Given the description of an element on the screen output the (x, y) to click on. 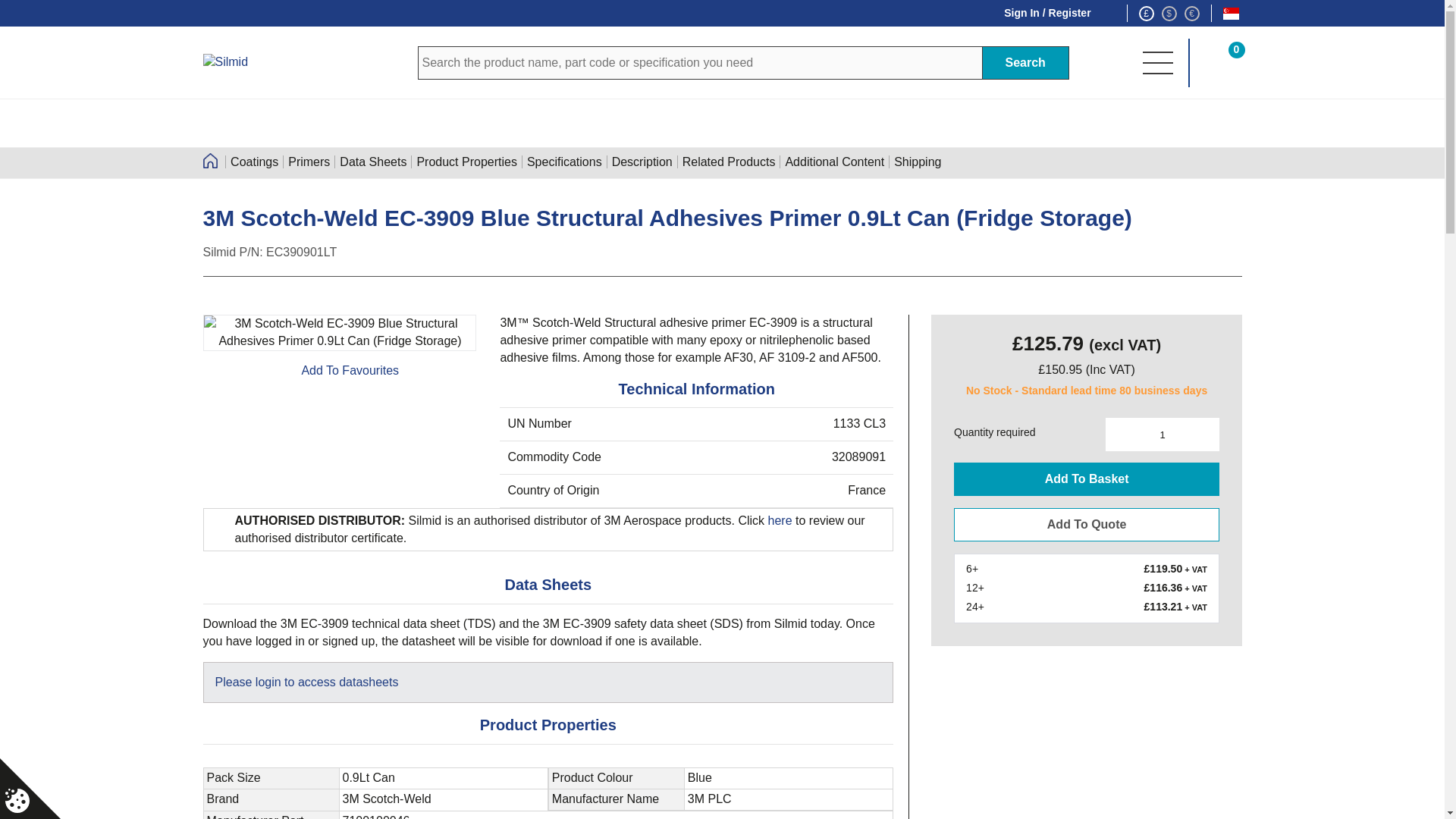
Open Cookie Consent (30, 788)
Open Cookie Consent (17, 800)
Add To Quote (1086, 524)
1 (1162, 434)
